Given the description of an element on the screen output the (x, y) to click on. 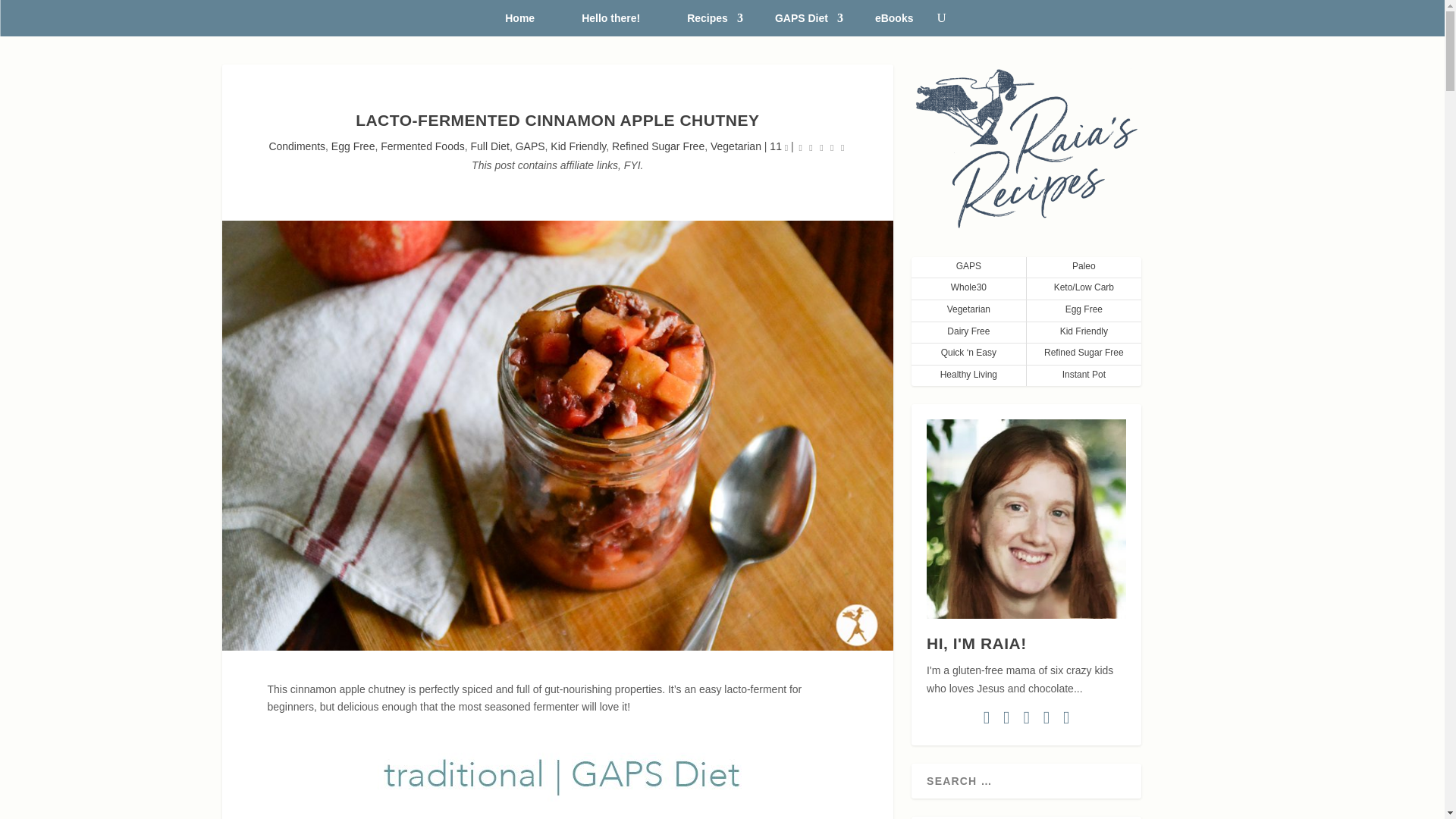
Full Diet (489, 146)
Condiments (295, 146)
Hello there! (610, 24)
GAPS (529, 146)
Recipes (706, 24)
Vegetarian (735, 146)
Fermented Foods (422, 146)
Rating: 0.00 (821, 147)
eBooks (894, 24)
Home (519, 24)
